Given the description of an element on the screen output the (x, y) to click on. 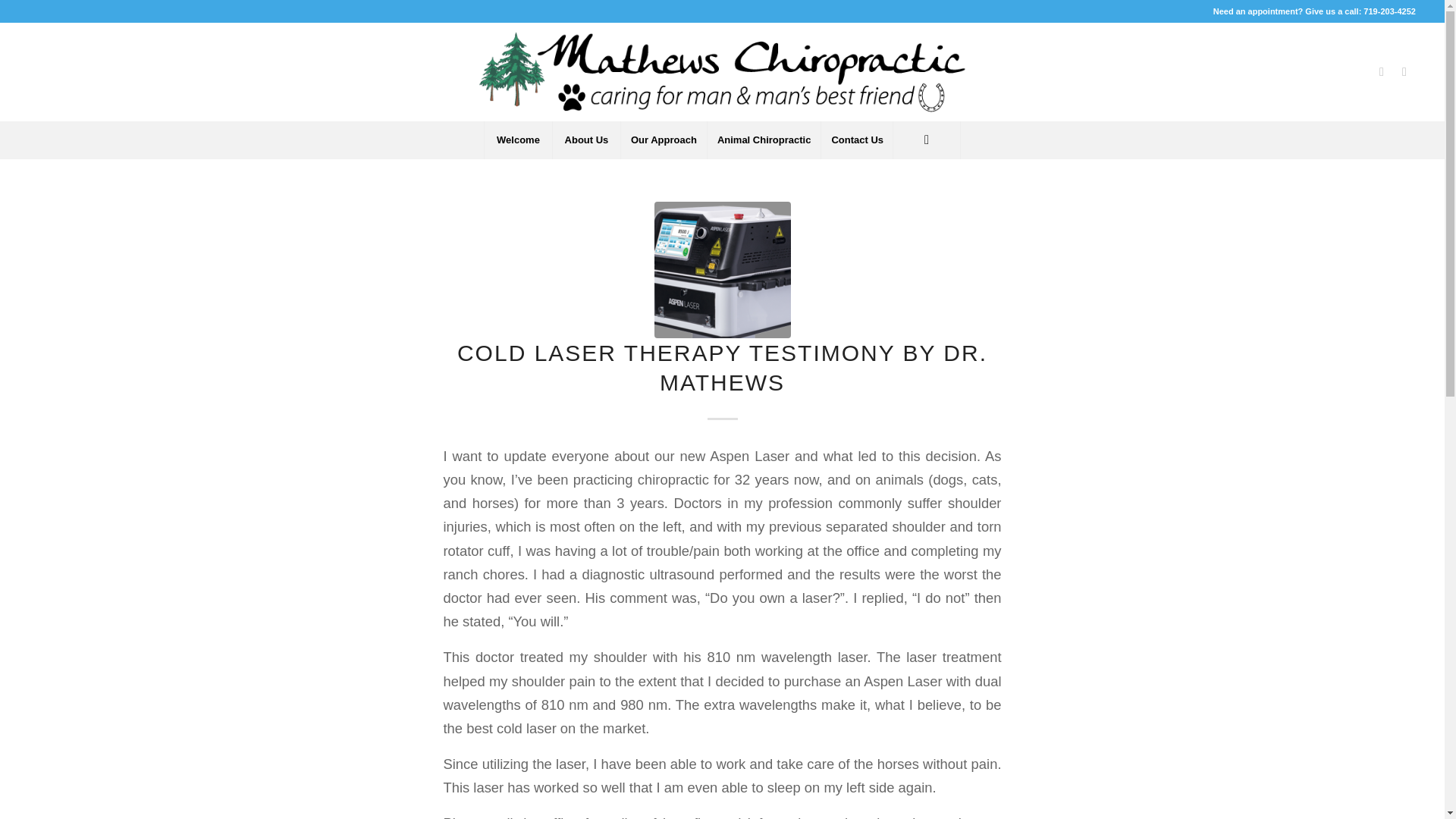
Pinnacle-Dual (721, 269)
About Us (585, 139)
Our Approach (663, 139)
Contact Us (857, 139)
Mail (1404, 71)
Welcome (517, 139)
Facebook (1381, 71)
Animal Chiropractic (763, 139)
